Given the description of an element on the screen output the (x, y) to click on. 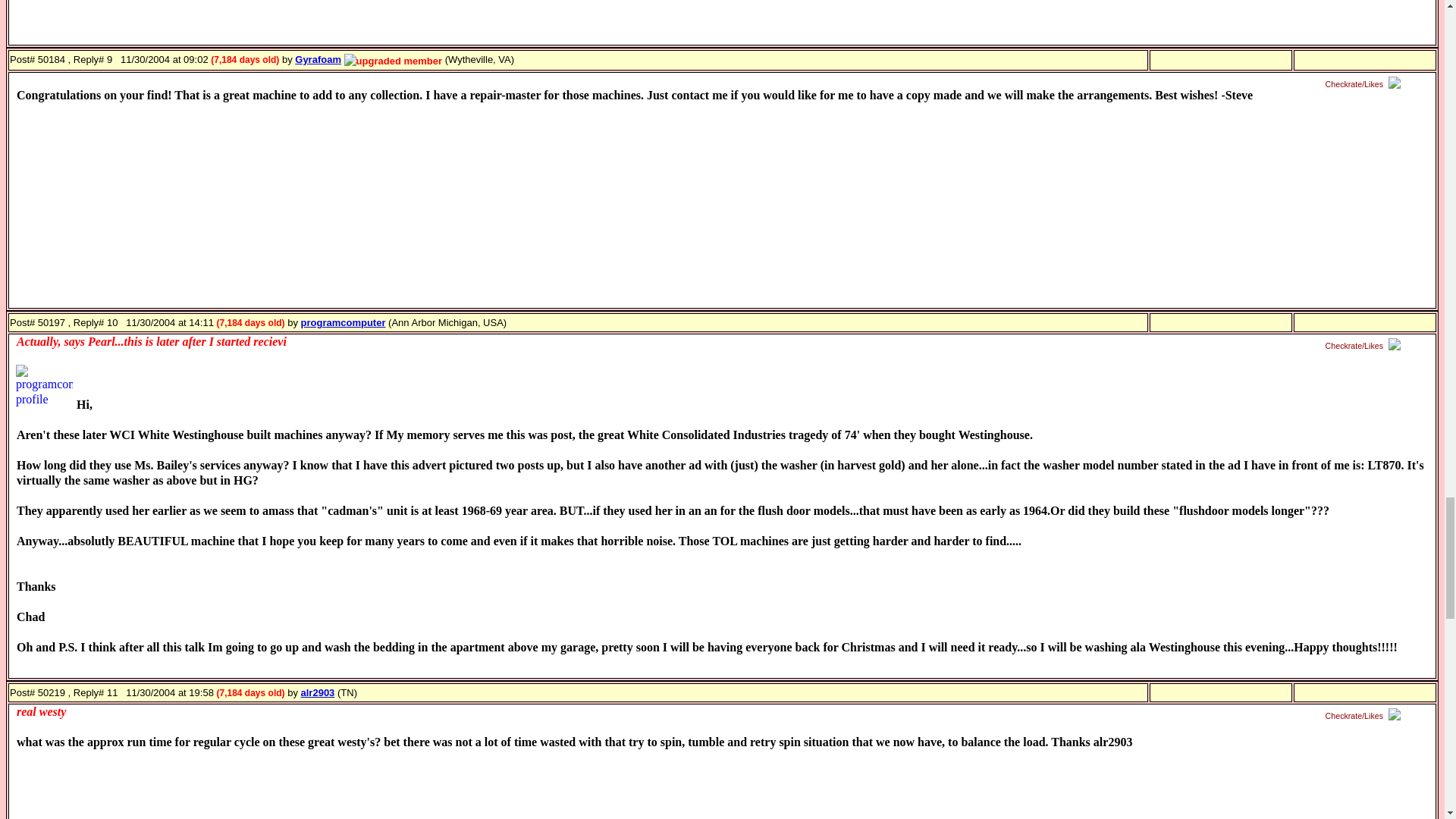
You must be logged in to checkrate posts (1364, 716)
You must be logged in to checkrate posts (1364, 345)
upgraded member (392, 61)
You must be logged in to checkrate posts (1364, 83)
